Given the description of an element on the screen output the (x, y) to click on. 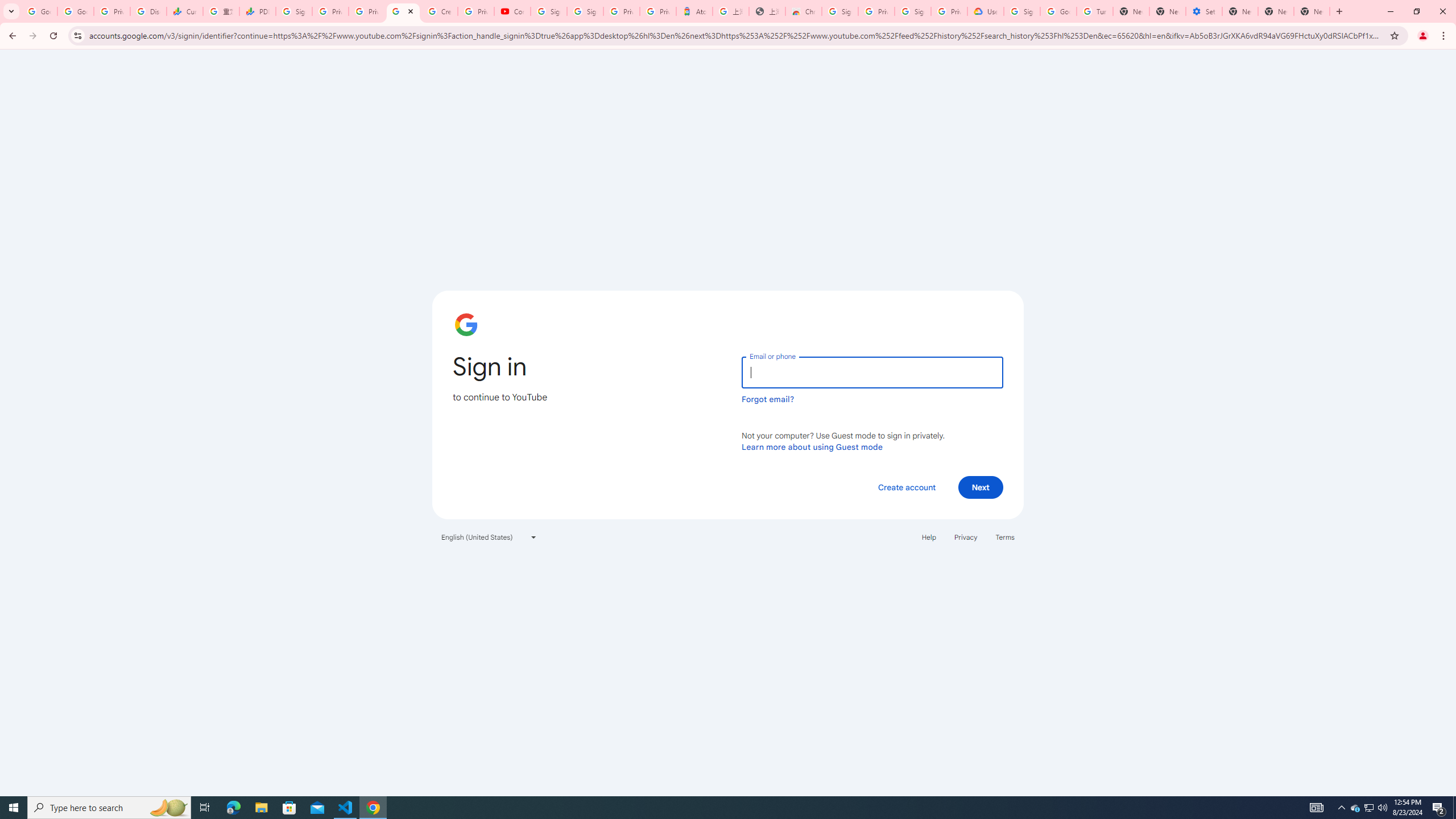
New Tab (1311, 11)
Content Creator Programs & Opportunities - YouTube Creators (512, 11)
Turn cookies on or off - Computer - Google Account Help (1094, 11)
Learn more about using Guest mode (812, 446)
Create your Google Account (439, 11)
PDD Holdings Inc - ADR (PDD) Price & News - Google Finance (257, 11)
